Given the description of an element on the screen output the (x, y) to click on. 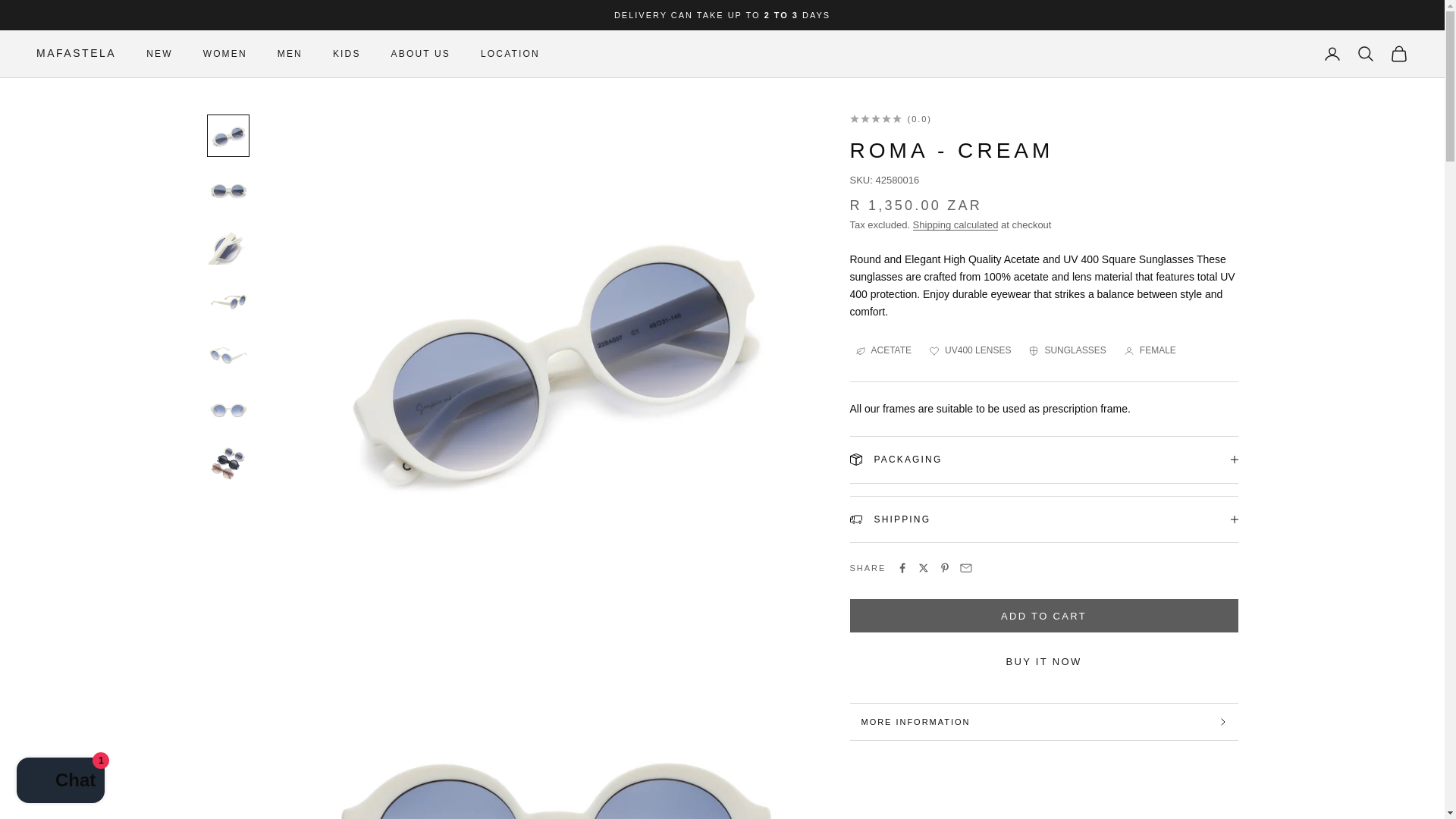
MAFASTELA (76, 54)
No reviews (1042, 118)
Open search (1365, 54)
NEW (159, 53)
Open account page (1331, 54)
Shopify online store chat (60, 781)
Open cart (1398, 54)
